Given the description of an element on the screen output the (x, y) to click on. 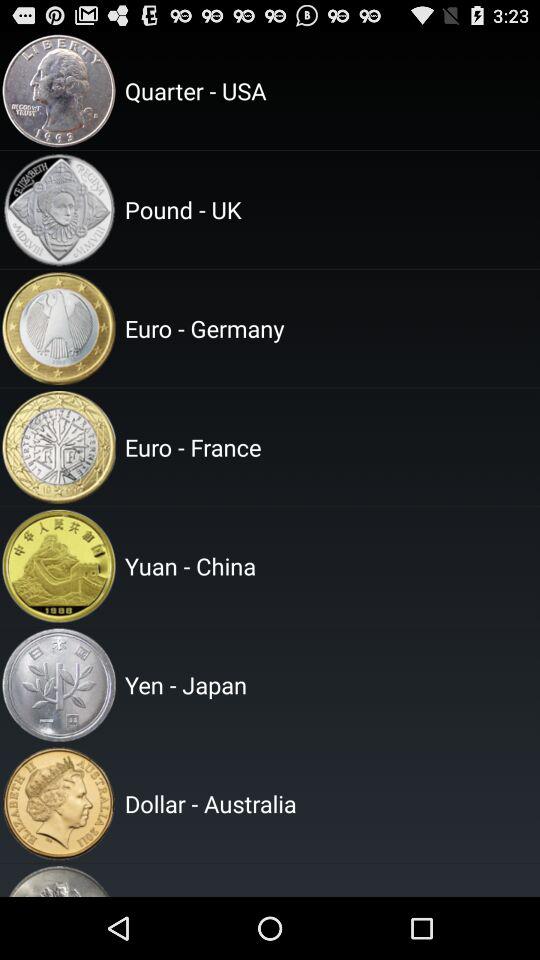
scroll to the dollar - australia app (329, 803)
